Given the description of an element on the screen output the (x, y) to click on. 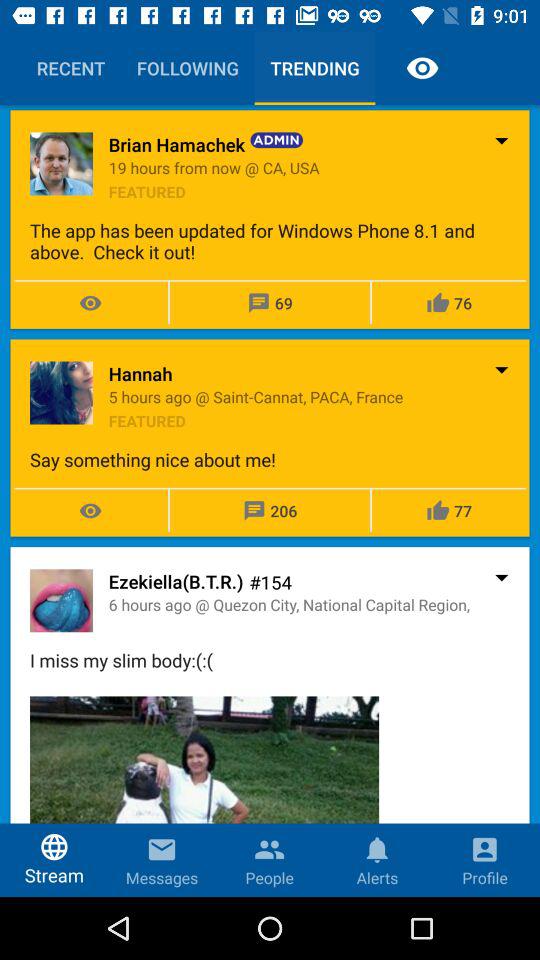
press item below the app has item (140, 373)
